Given the description of an element on the screen output the (x, y) to click on. 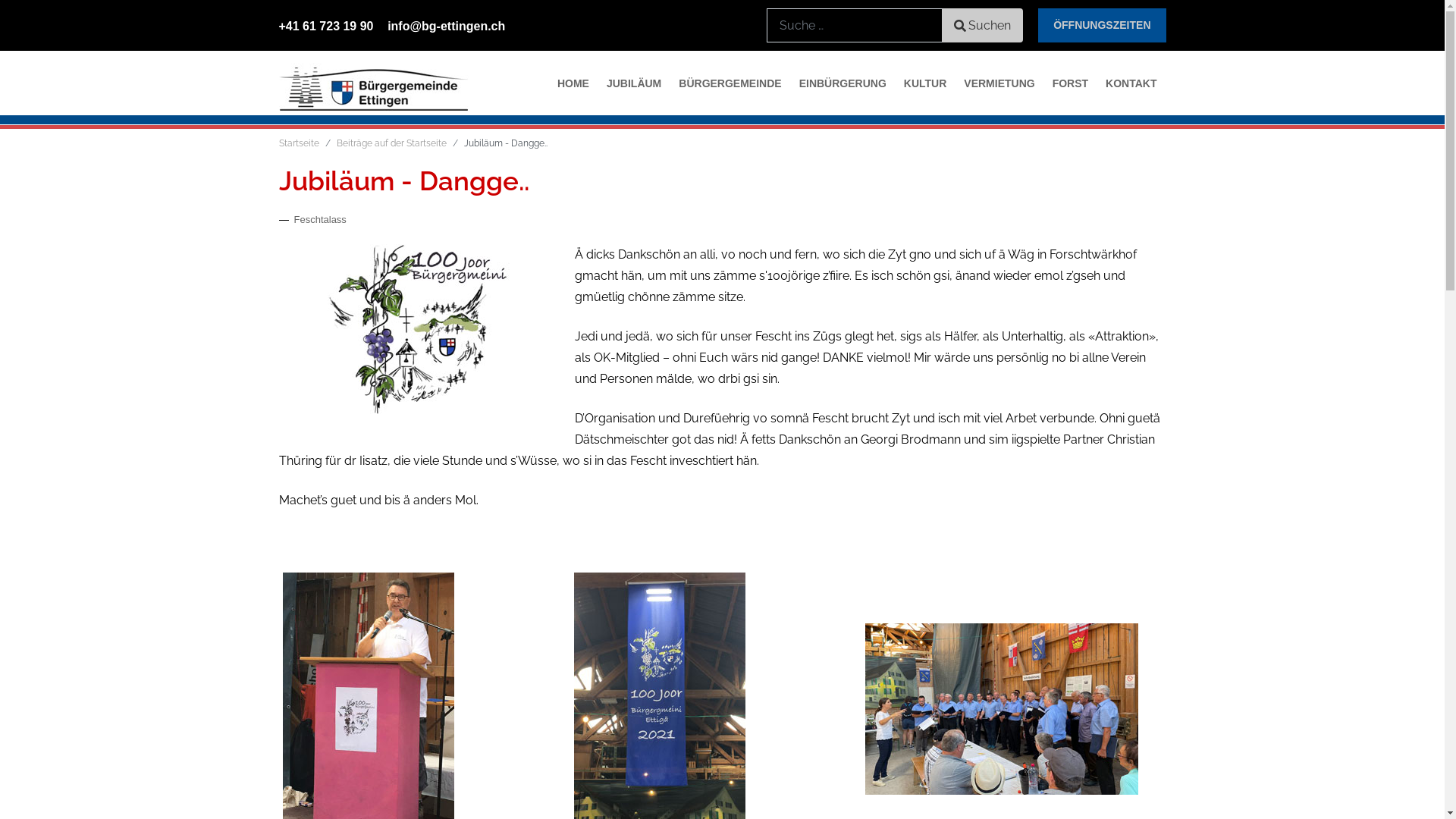
Startseite Element type: text (299, 143)
+41 61 723 19 90 Element type: text (326, 25)
KULTUR Element type: text (925, 83)
FORST Element type: text (1070, 83)
KONTAKT Element type: text (1130, 83)
HOME Element type: text (573, 83)
Suchen Element type: text (981, 25)
VERMIETUNG Element type: text (998, 83)
info@bg-ettingen.ch Element type: text (446, 25)
